Given the description of an element on the screen output the (x, y) to click on. 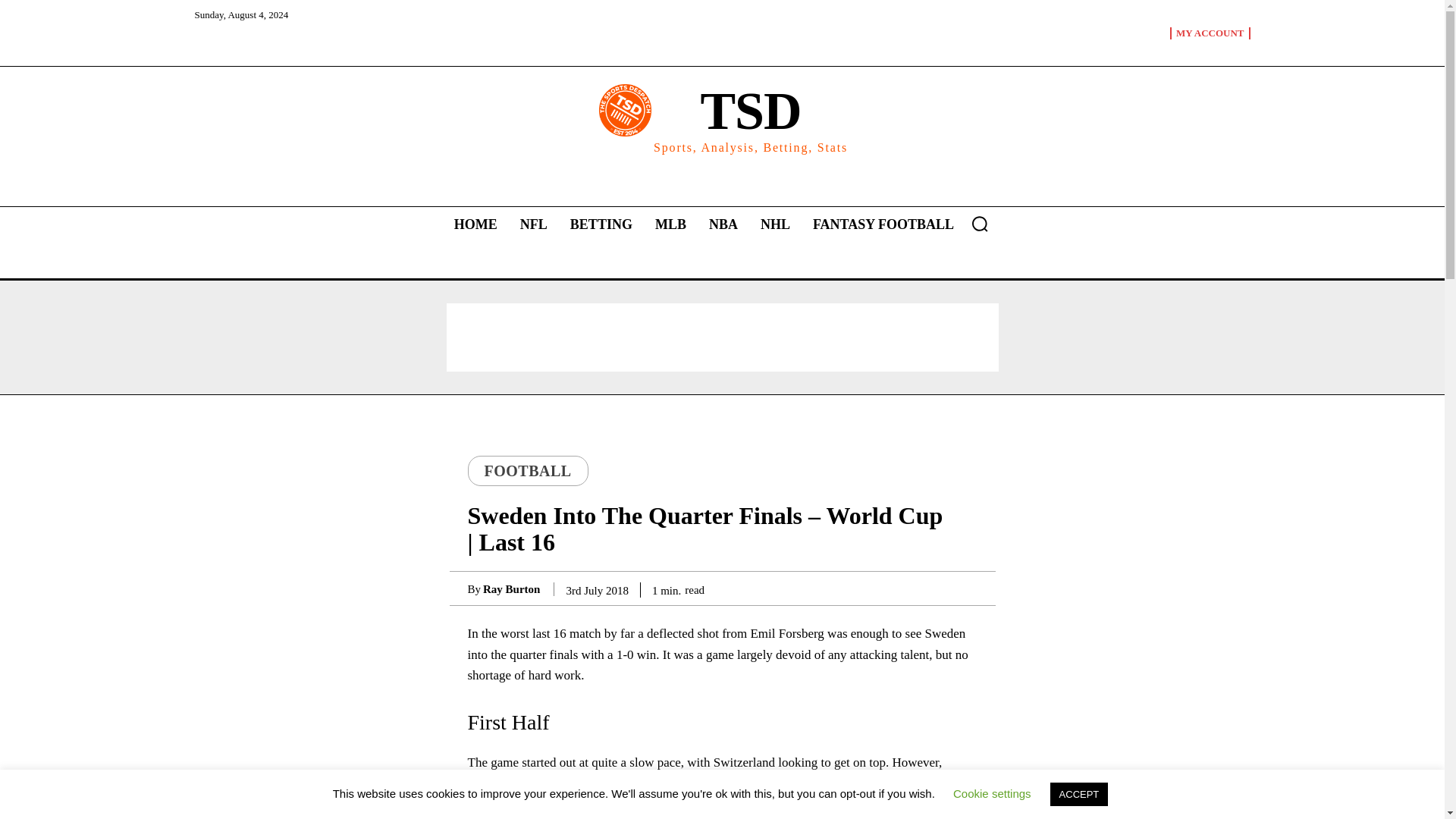
MLB (670, 224)
Advertisement (721, 337)
NFL (721, 117)
BETTING (533, 224)
HOME (601, 224)
NBA (475, 224)
NHL (723, 224)
FANTASY FOOTBALL (774, 224)
